Given the description of an element on the screen output the (x, y) to click on. 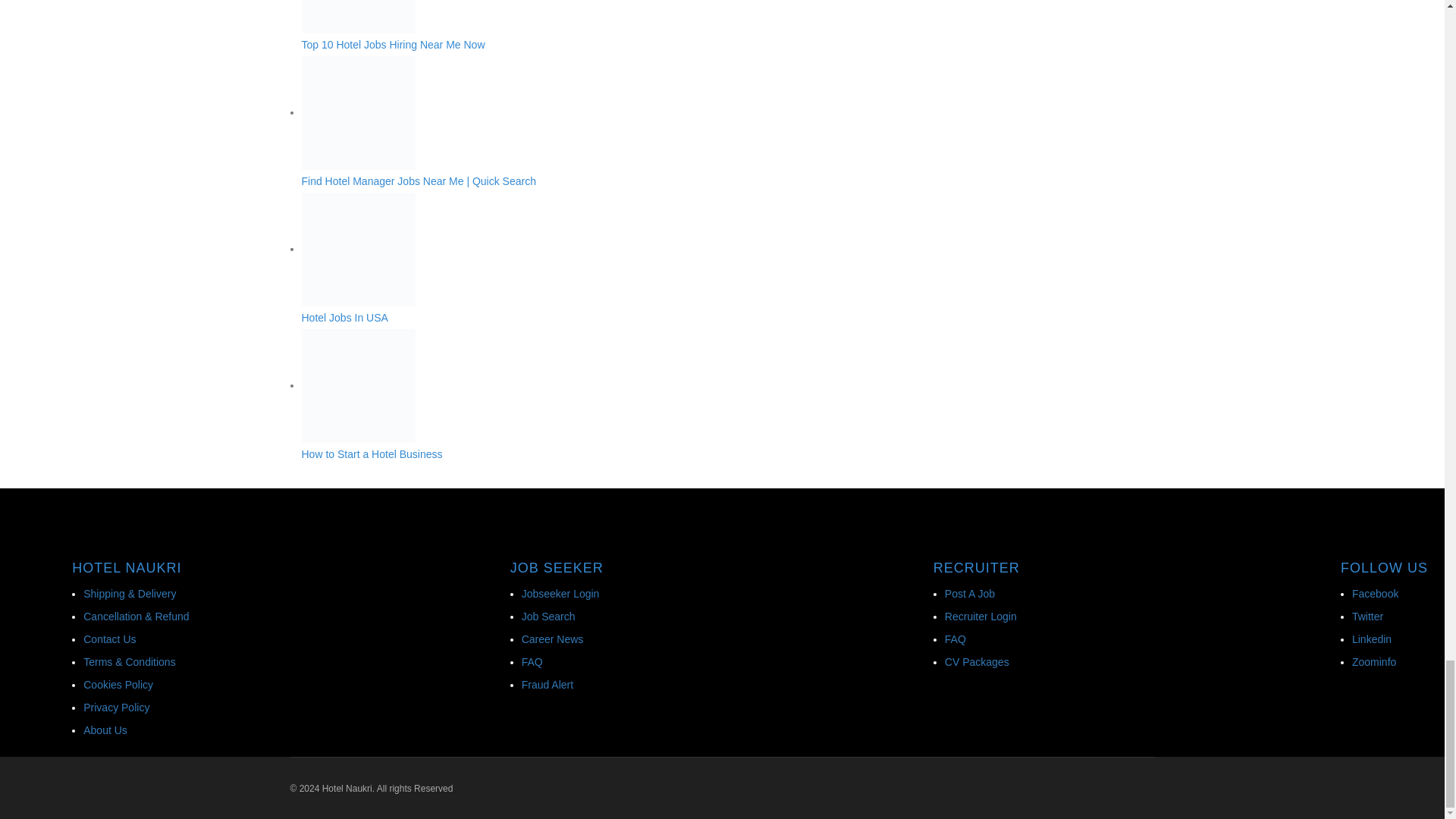
Hotel Jobs In USA (357, 249)
How to Start a Hotel Business (617, 394)
Hotel Jobs In USA (617, 257)
Top 10 Hotel Jobs Hiring Near Me Now (617, 25)
Privacy Policy (115, 707)
Contact Us (108, 639)
Cookies Policy (117, 684)
Top 10 Hotel Jobs Hiring Near Me Now (357, 16)
How to Start a Hotel Business (357, 386)
